Given the description of an element on the screen output the (x, y) to click on. 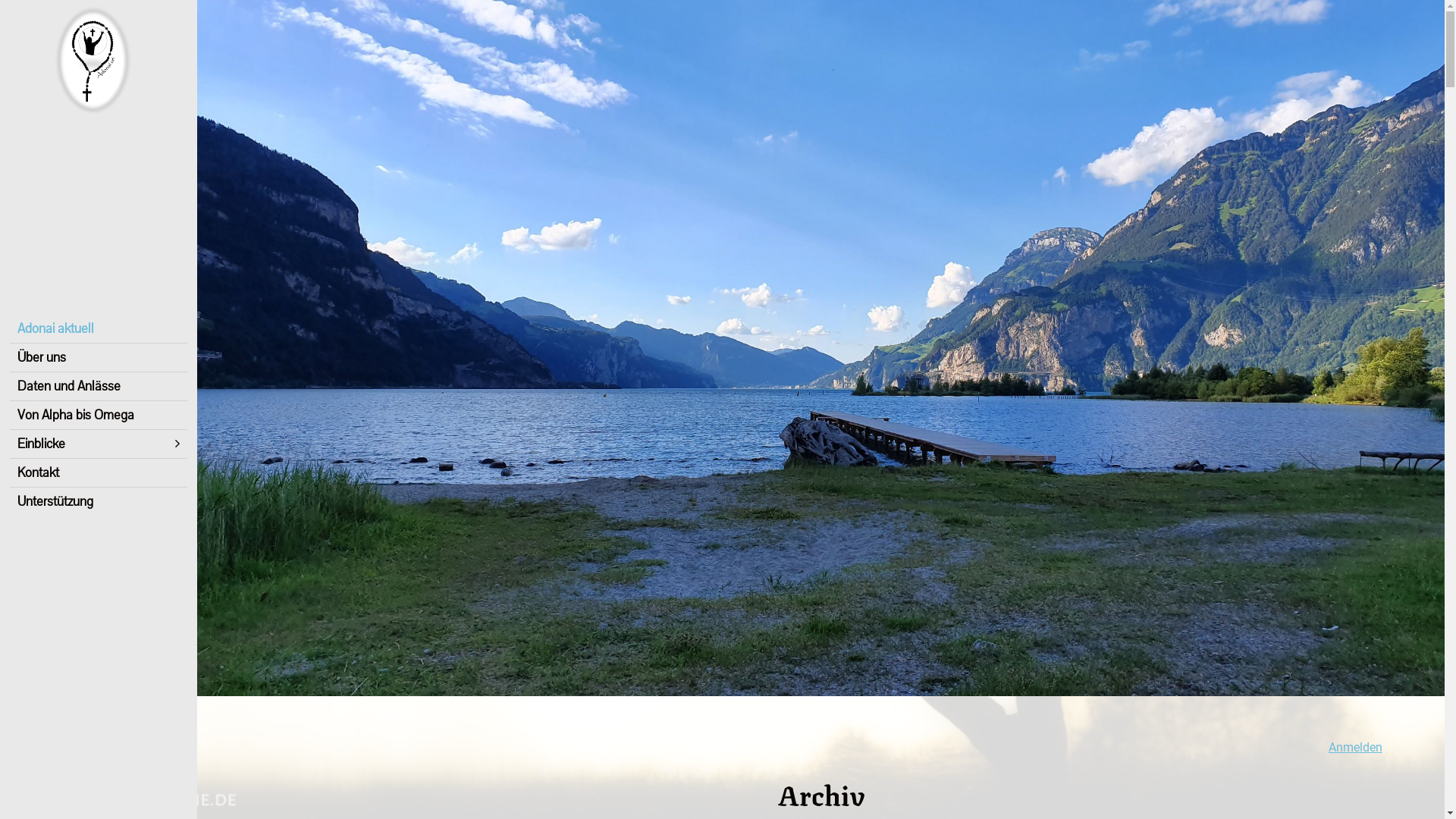
Von Alpha bis Omega Element type: text (98, 414)
Adonai aktuell Element type: text (98, 327)
Kontakt Element type: text (98, 472)
Einblicke Element type: text (98, 443)
Anmelden Element type: text (1355, 747)
